Given the description of an element on the screen output the (x, y) to click on. 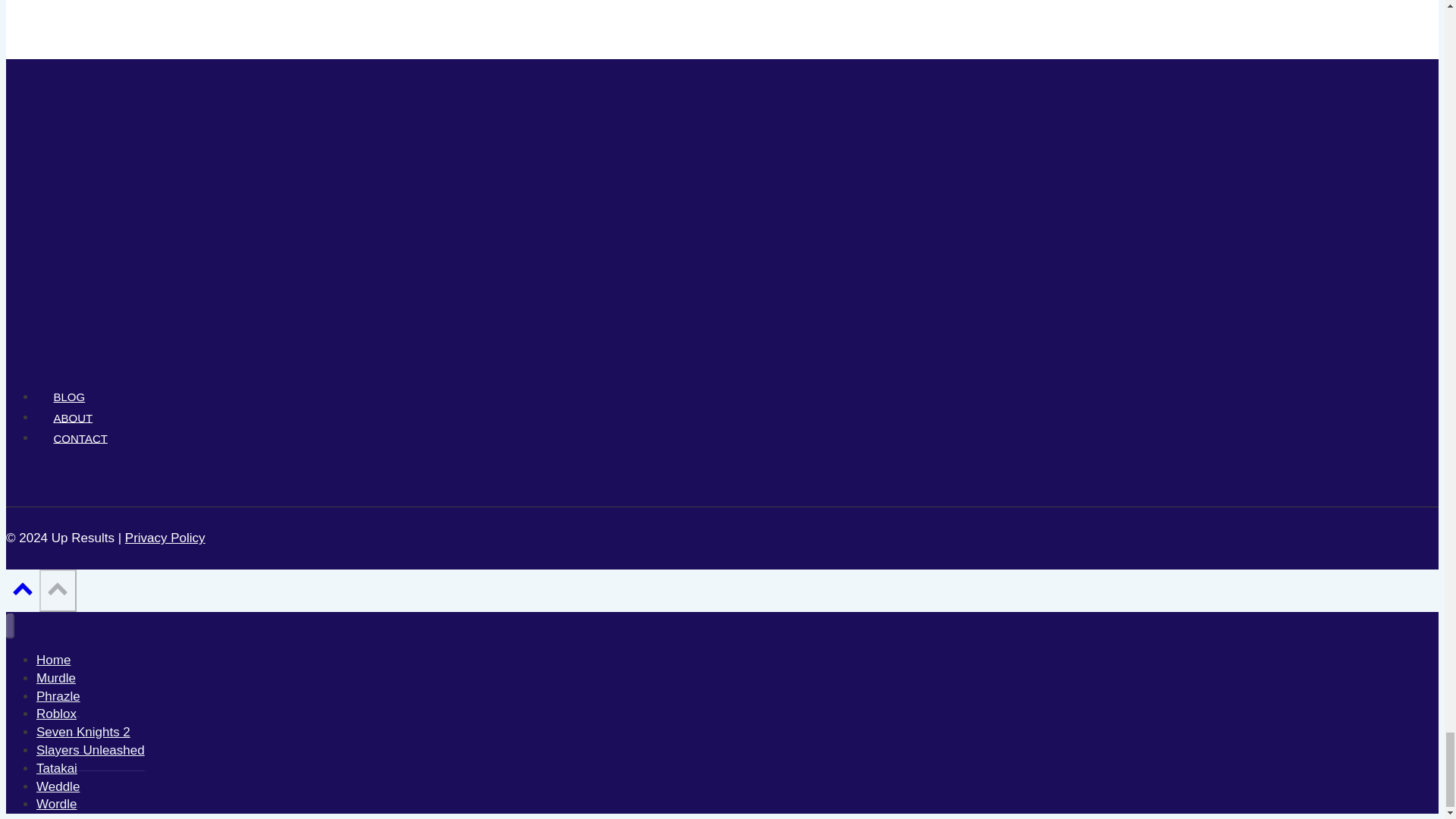
Scroll to top (22, 592)
Scroll to top (57, 587)
Scroll to top (22, 587)
